Given the description of an element on the screen output the (x, y) to click on. 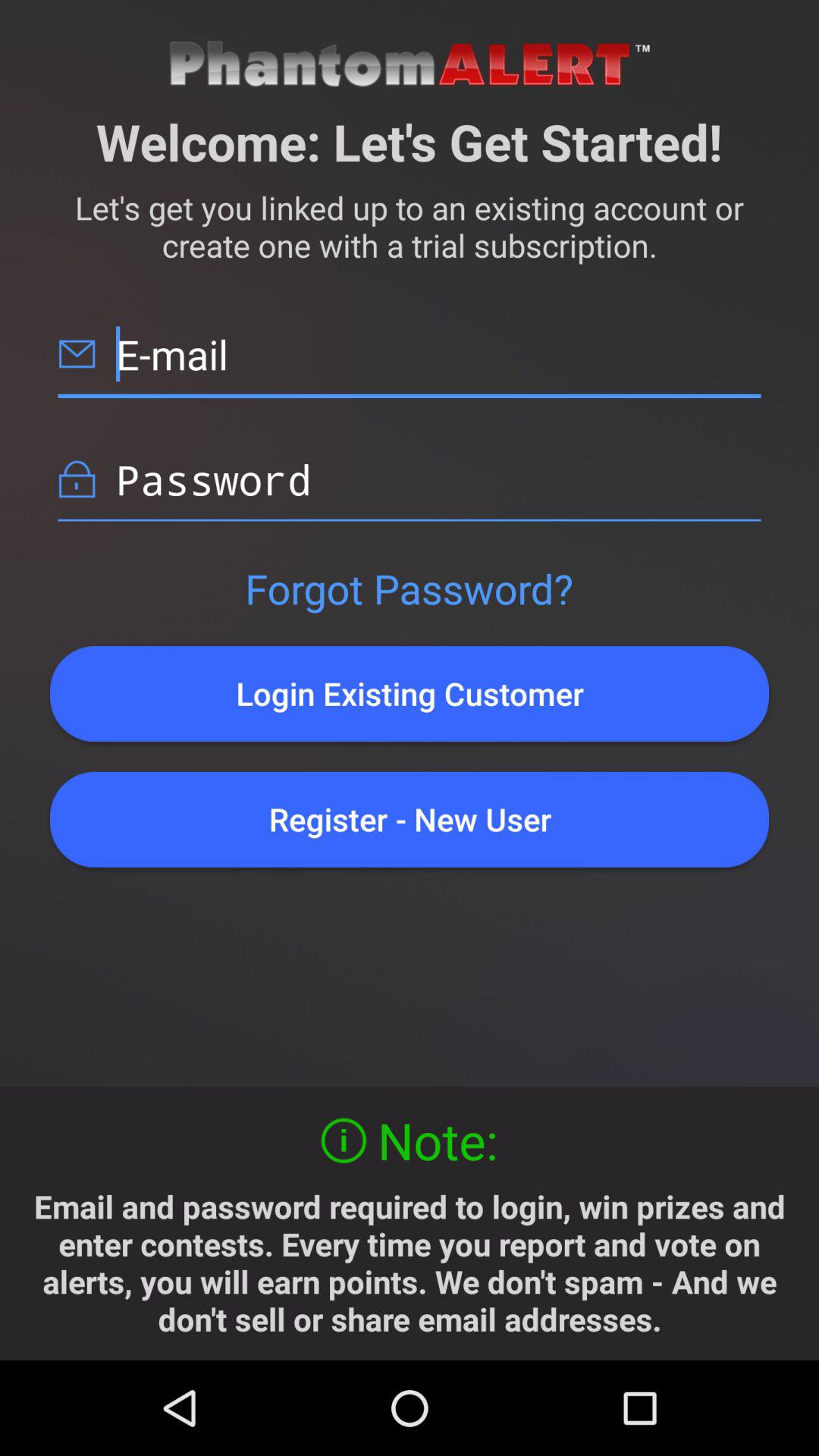
turn on the icon above register - new user icon (409, 693)
